Given the description of an element on the screen output the (x, y) to click on. 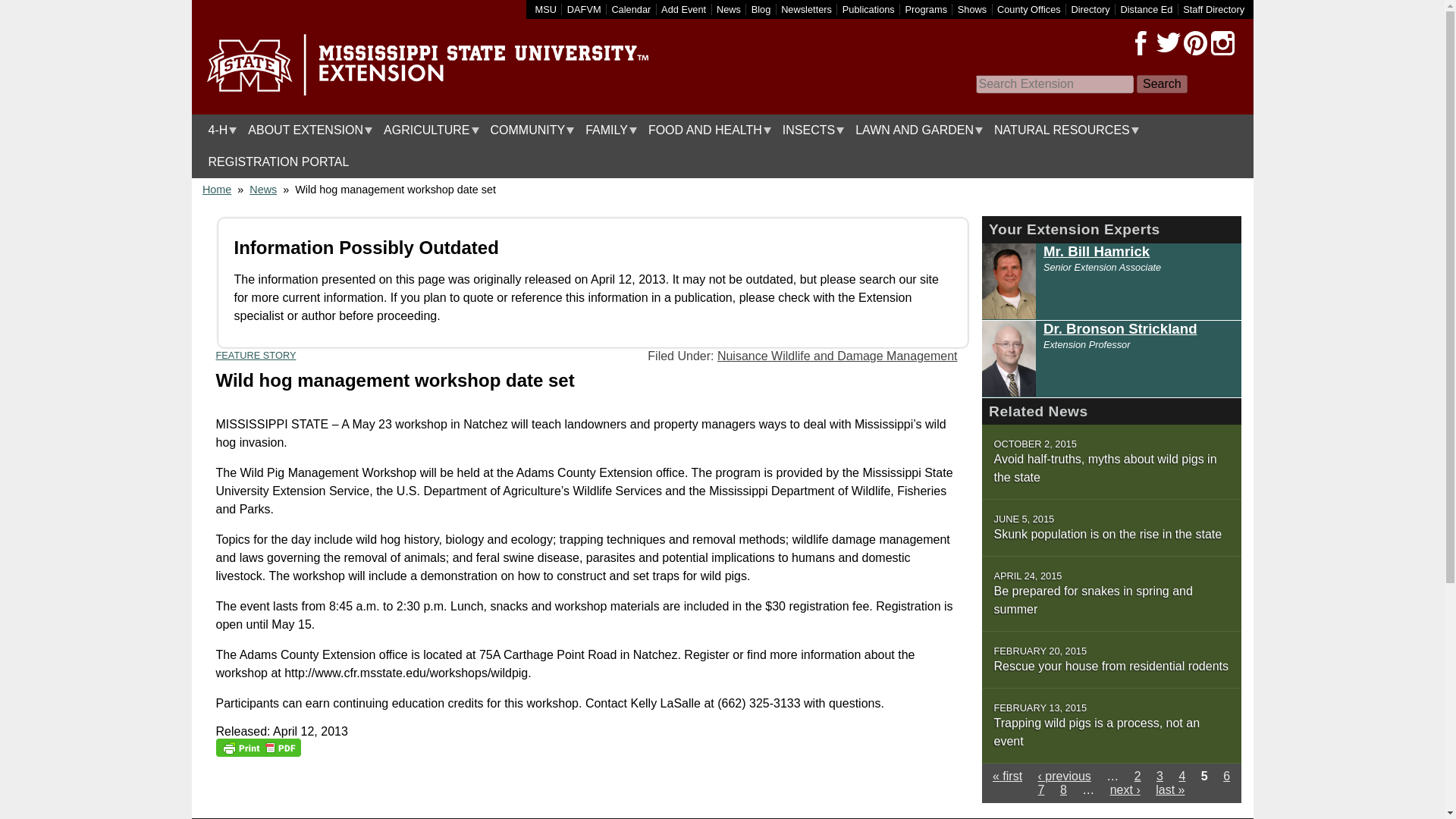
The main event calendar for the MSU Extension Service (630, 9)
Directory of employees of the MSU Extension Service (1213, 9)
Newsletters (805, 9)
Instagram (1221, 43)
Programs (926, 9)
List of Extension Programs (926, 9)
Publications (869, 9)
Shows (972, 9)
MSU (545, 9)
Calendar (630, 9)
Blog (761, 9)
